Given the description of an element on the screen output the (x, y) to click on. 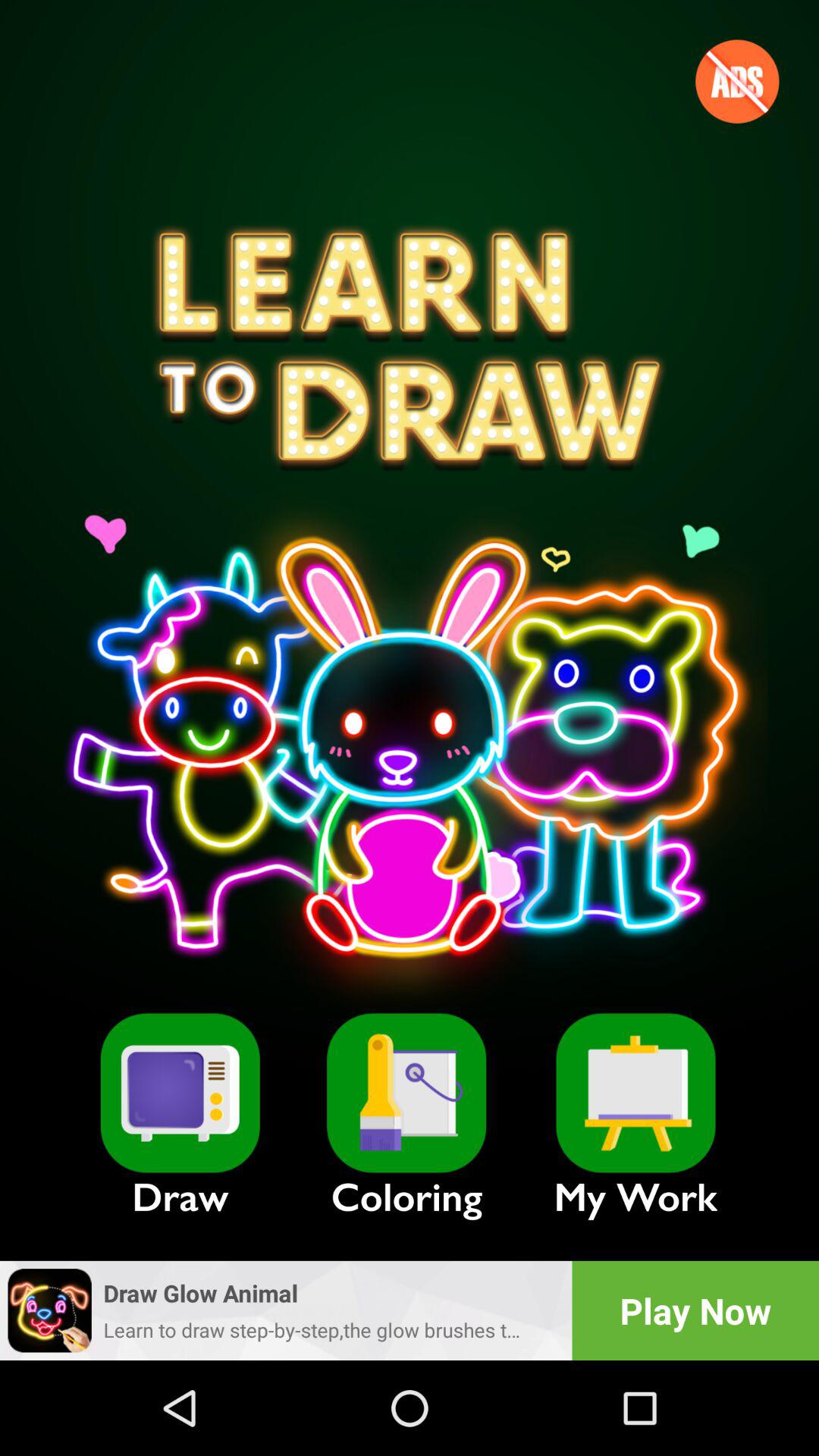
disable advertisements button (737, 81)
